Given the description of an element on the screen output the (x, y) to click on. 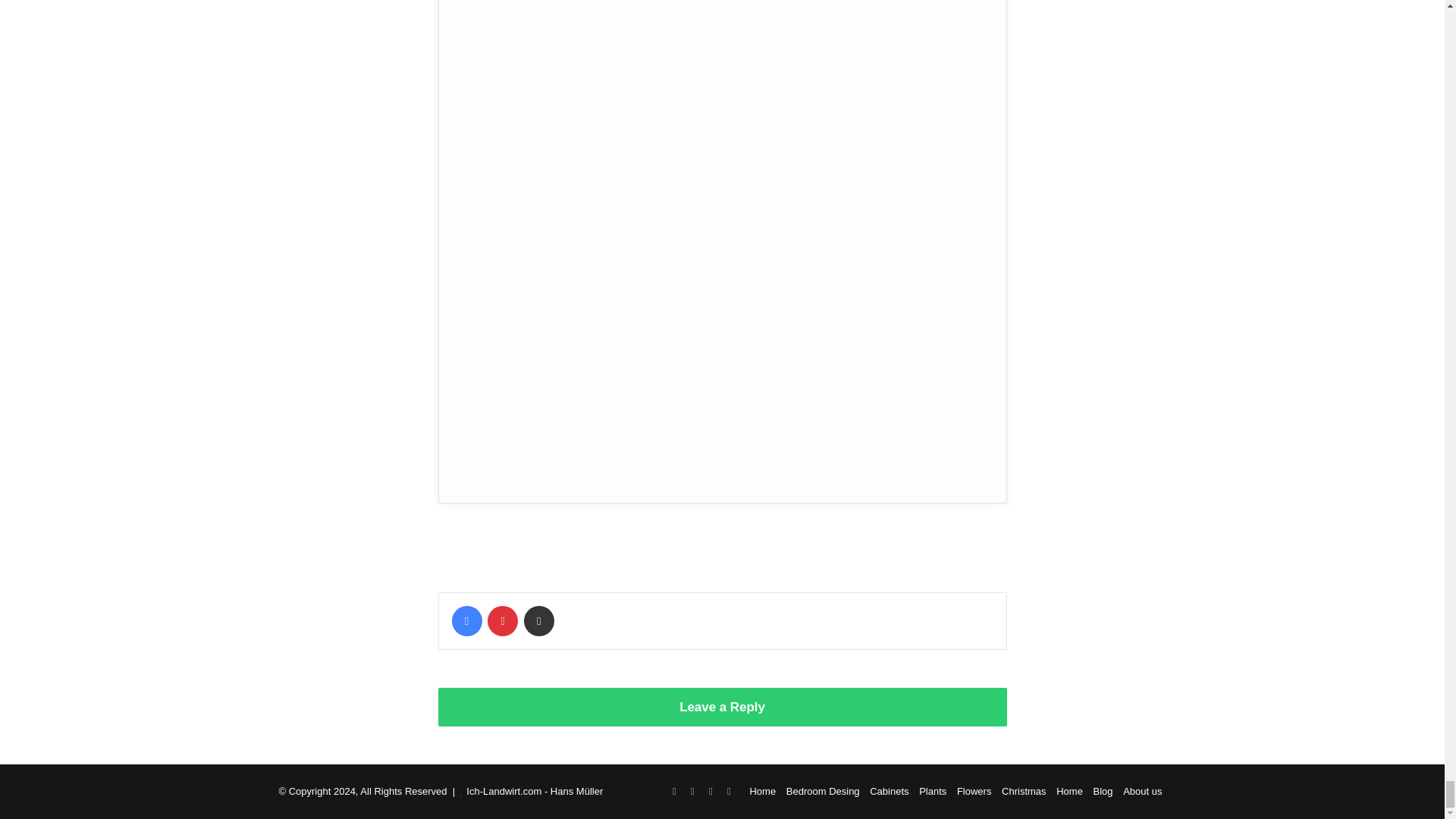
Pinterest (502, 621)
Facebook (466, 621)
Facebook (466, 621)
Share via Email (539, 621)
Pinterest (502, 621)
